Given the description of an element on the screen output the (x, y) to click on. 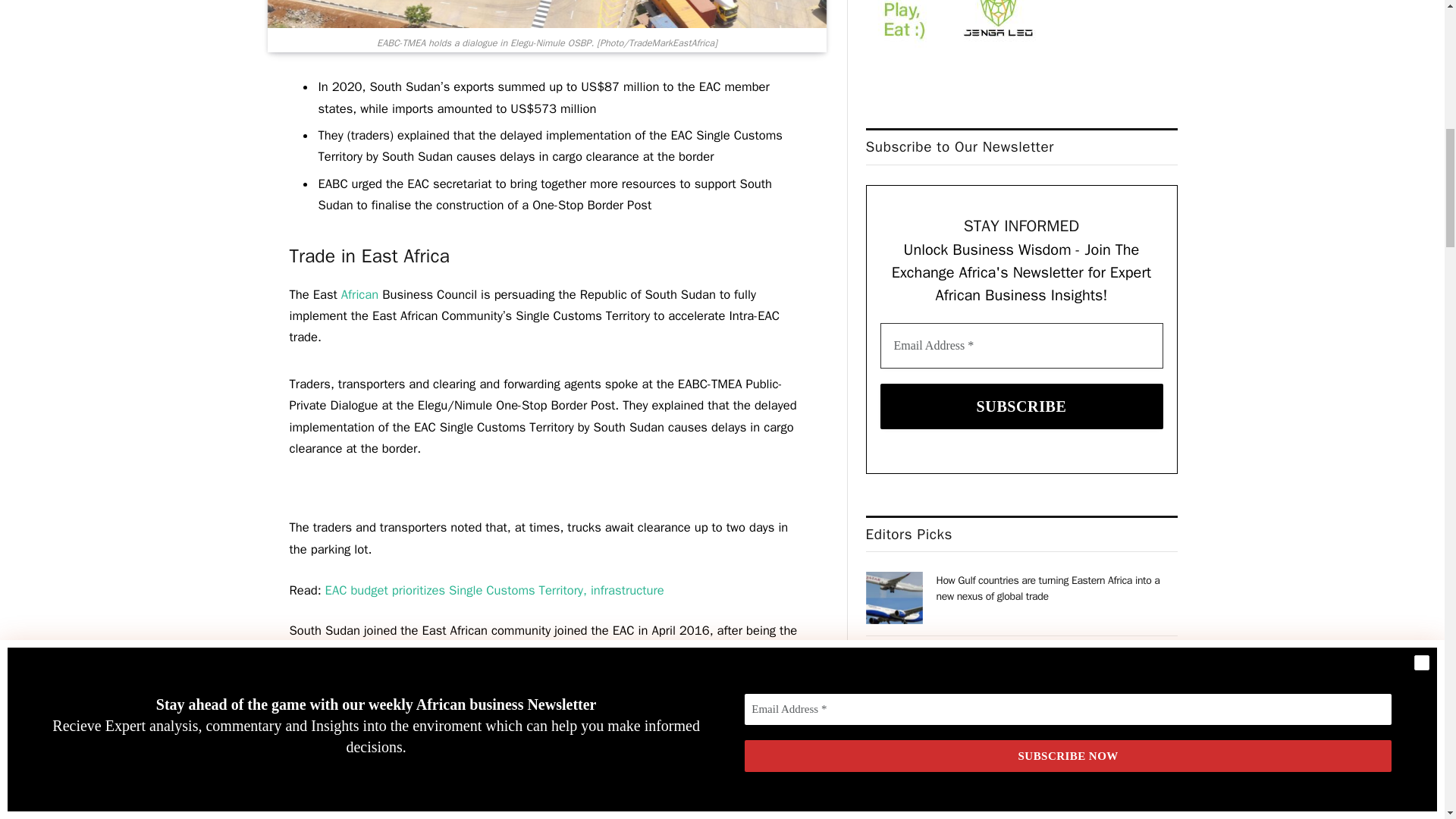
SUBSCRIBE (1021, 406)
